Given the description of an element on the screen output the (x, y) to click on. 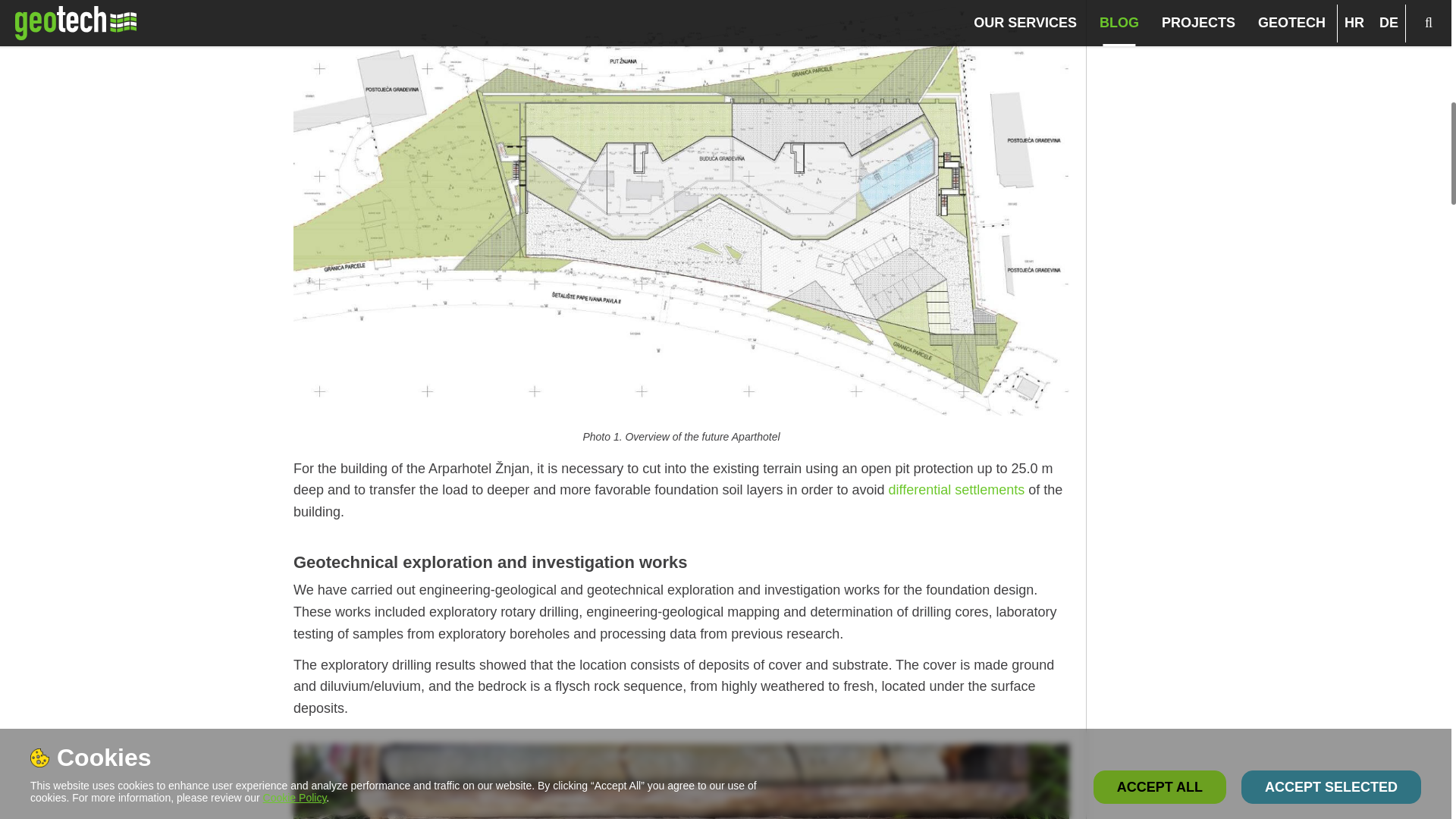
differential settlements (956, 489)
